Given the description of an element on the screen output the (x, y) to click on. 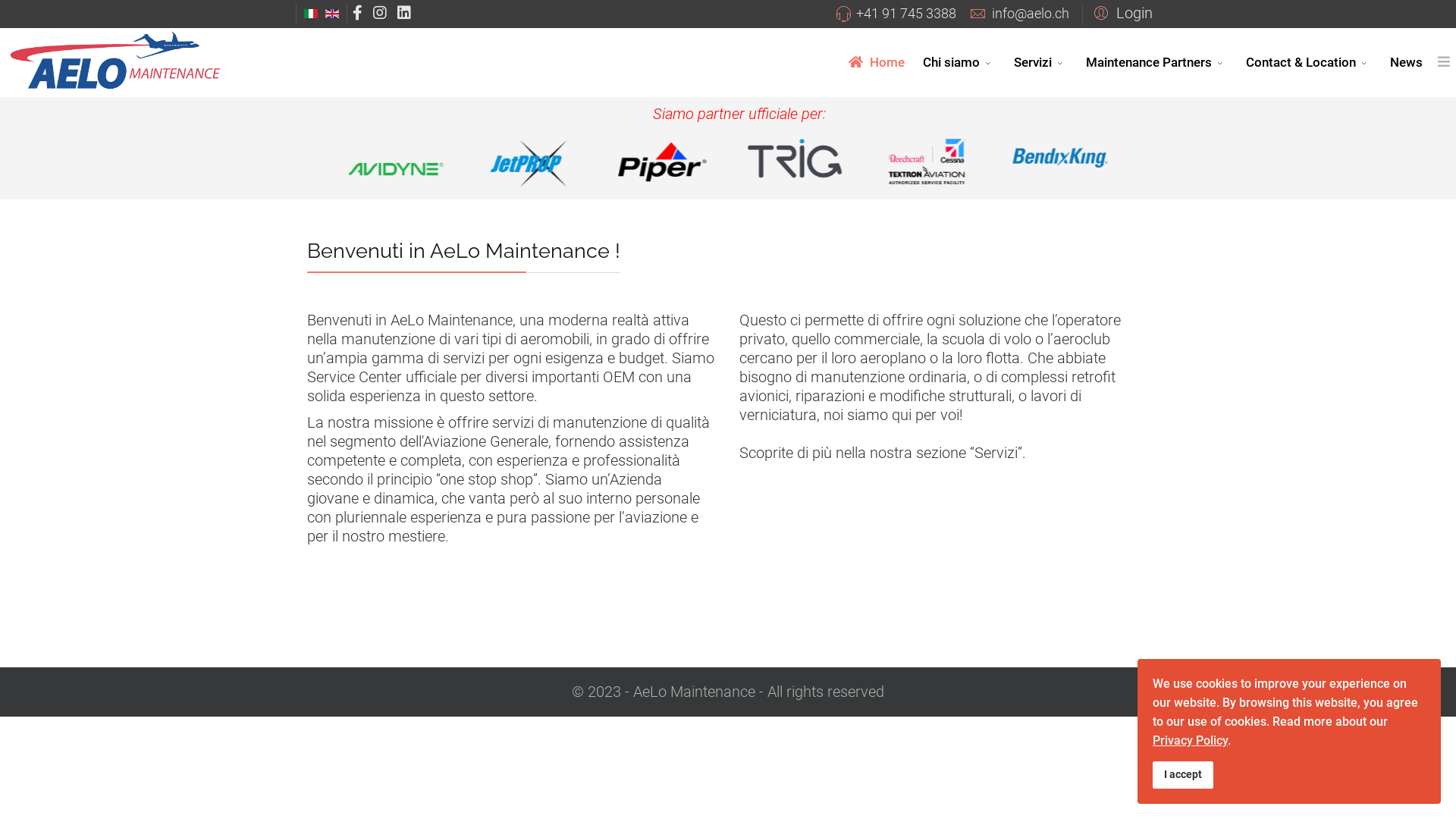
Chi siamo Element type: text (958, 62)
I accept Element type: text (1182, 774)
Privacy Policy Element type: text (1189, 740)
Maintenance Partners Element type: text (1156, 62)
Servizi Element type: text (1040, 62)
Login Element type: text (1121, 11)
News Element type: text (1405, 62)
+41 91 745 3388 Element type: text (906, 13)
Home Element type: text (874, 62)
info@aelo.ch Element type: text (1030, 13)
Contact & Location Element type: text (1308, 62)
